Given the description of an element on the screen output the (x, y) to click on. 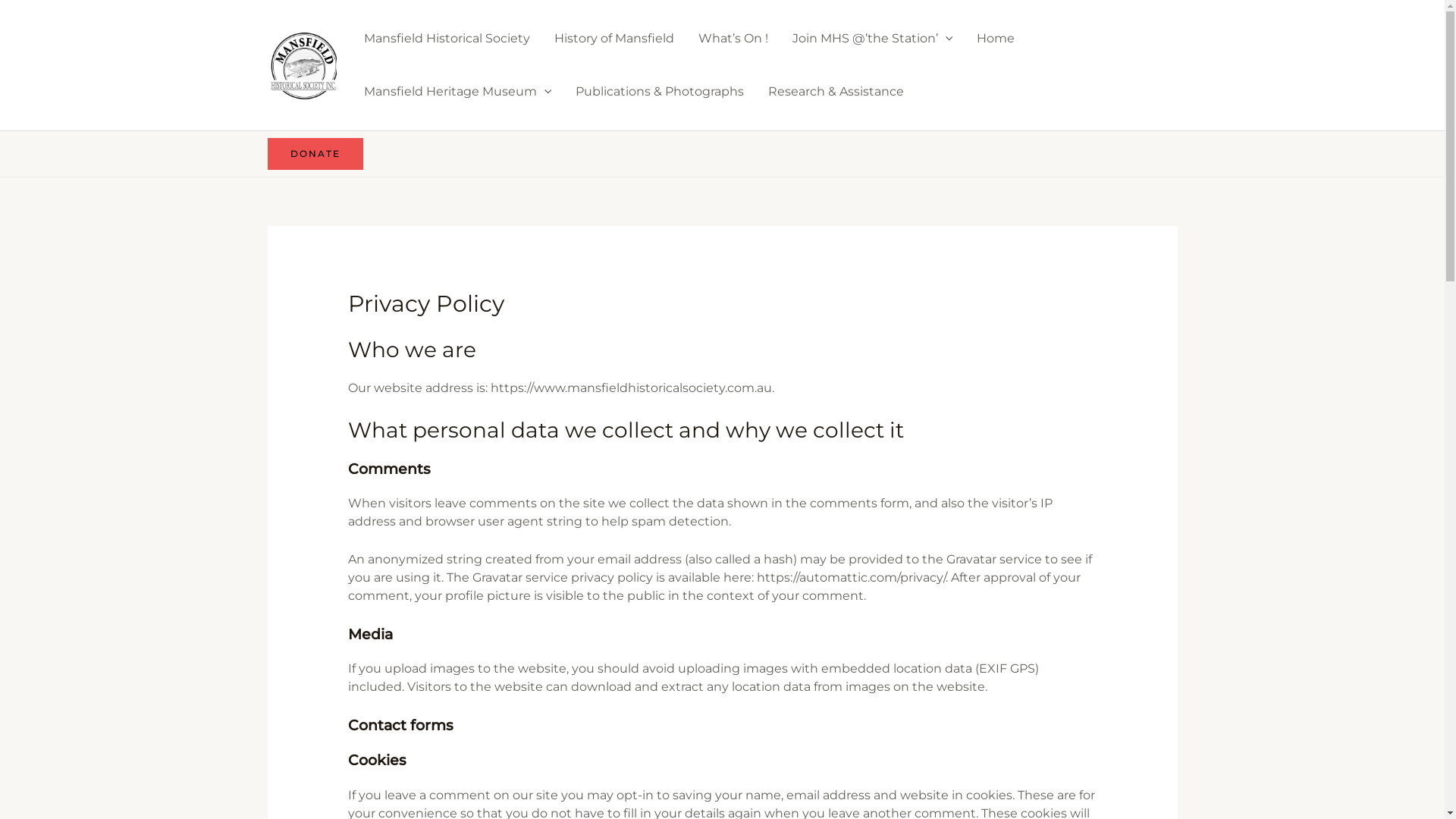
Research & Assistance Element type: text (836, 91)
DONATE Element type: text (314, 153)
Mansfield Heritage Museum Element type: text (457, 91)
Publications & Photographs Element type: text (659, 91)
History of Mansfield Element type: text (613, 38)
Home Element type: text (995, 38)
Mansfield Historical Society Element type: text (446, 38)
